Given the description of an element on the screen output the (x, y) to click on. 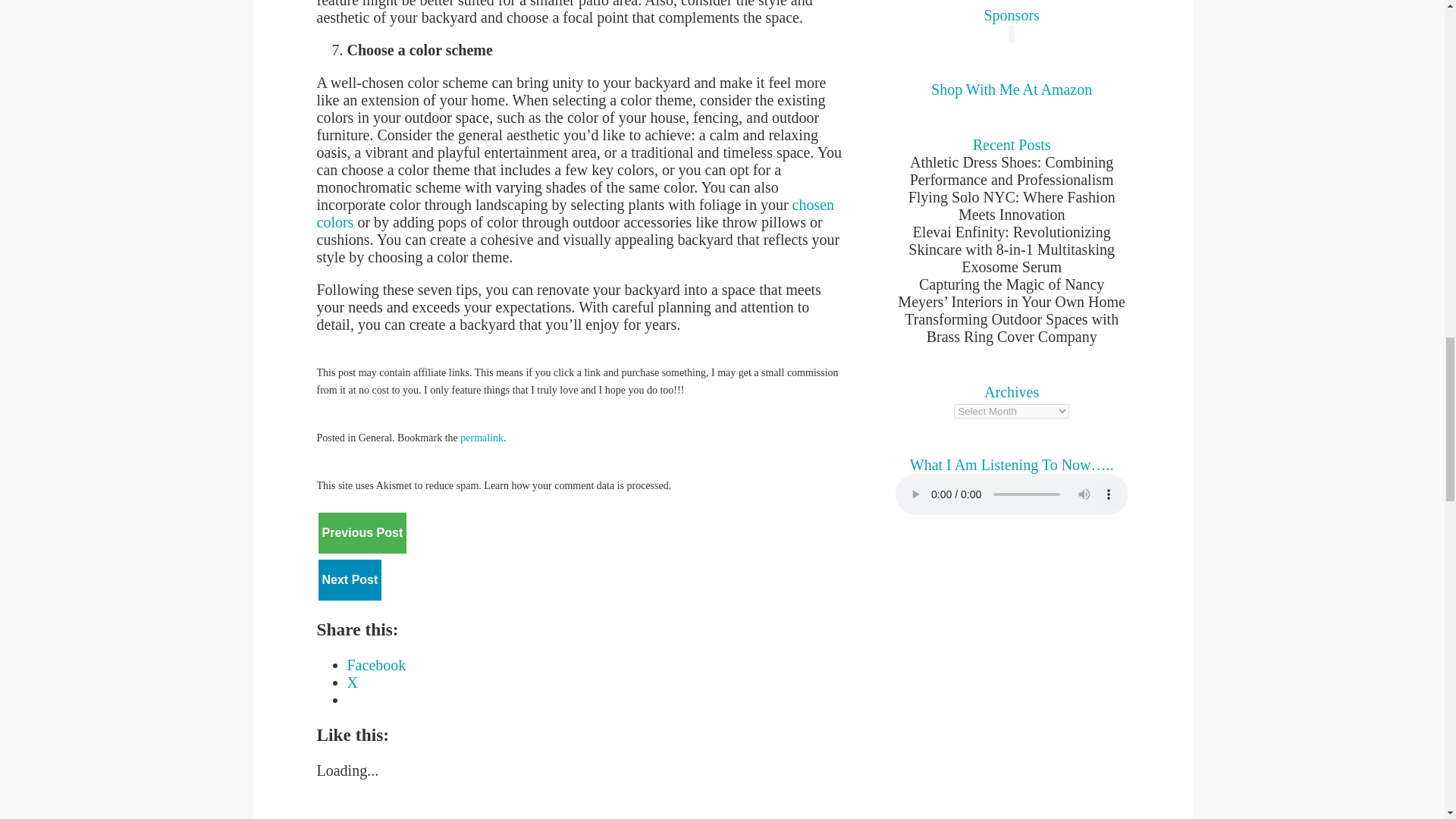
permalink (481, 437)
Next Post (350, 579)
chosen colors (575, 213)
Book Club Monday (350, 579)
Previous Post (362, 532)
Facebook (376, 664)
Next Post (349, 579)
Previous Post (363, 532)
2 New Fashion Trends That You Need To Know About NOW! (363, 532)
Click to share on Facebook (376, 664)
